Given the description of an element on the screen output the (x, y) to click on. 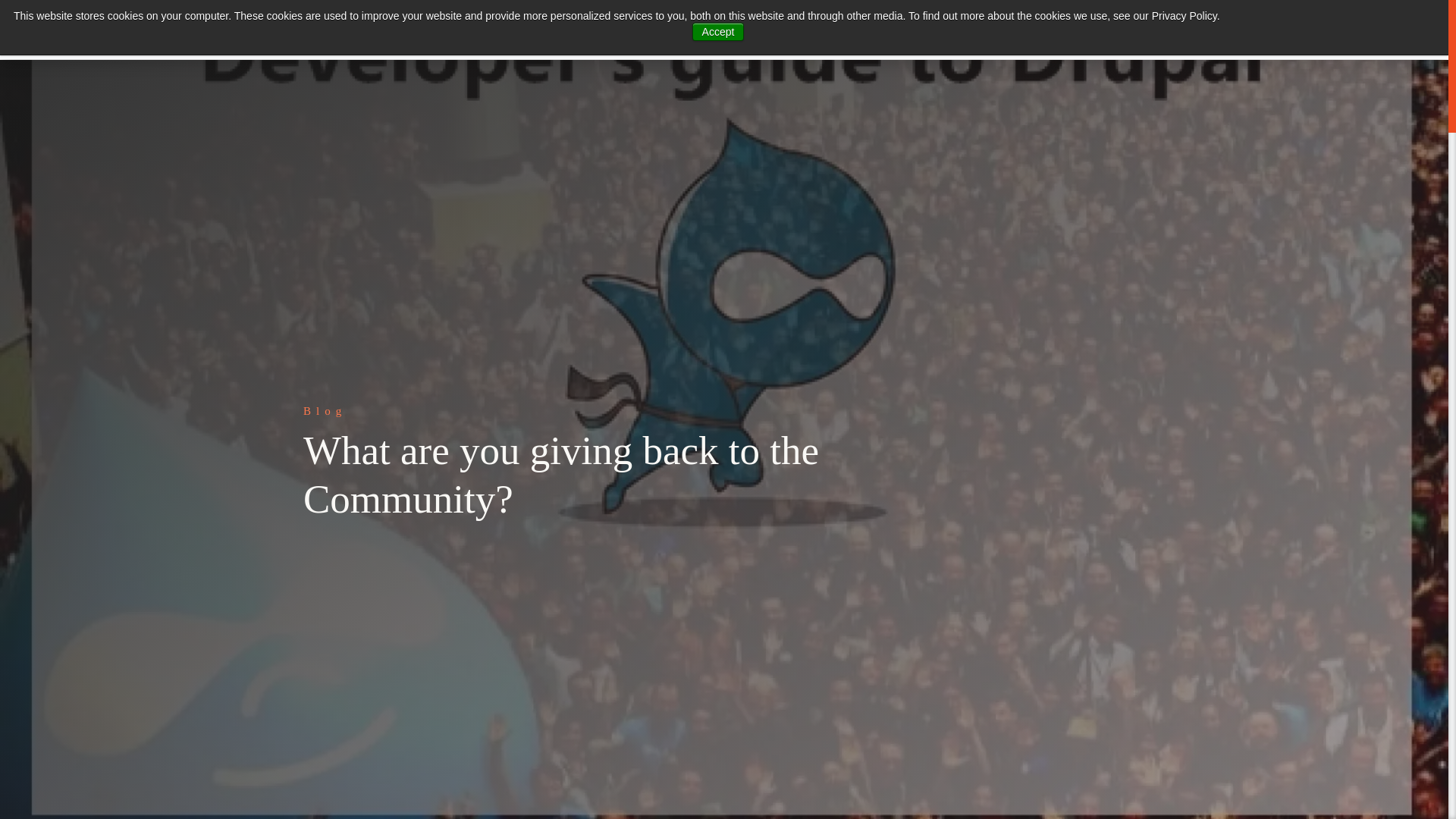
Accept (718, 31)
Become a Client (1056, 29)
Home (402, 29)
